Given the description of an element on the screen output the (x, y) to click on. 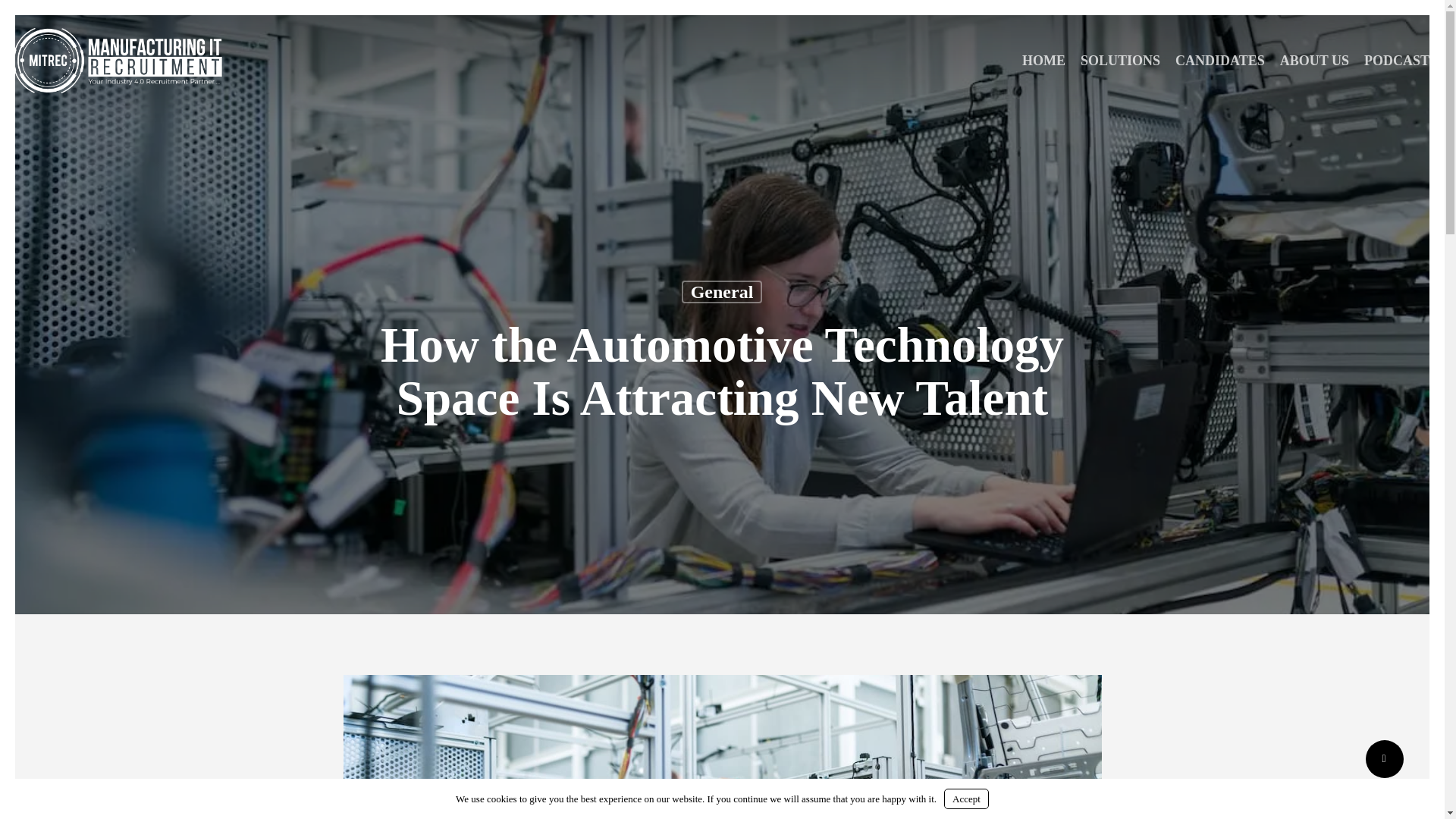
General (721, 291)
PODCAST (1396, 60)
SOLUTIONS (1120, 60)
ABOUT US (1314, 60)
CANDIDATES (1219, 60)
HOME (1043, 60)
